Given the description of an element on the screen output the (x, y) to click on. 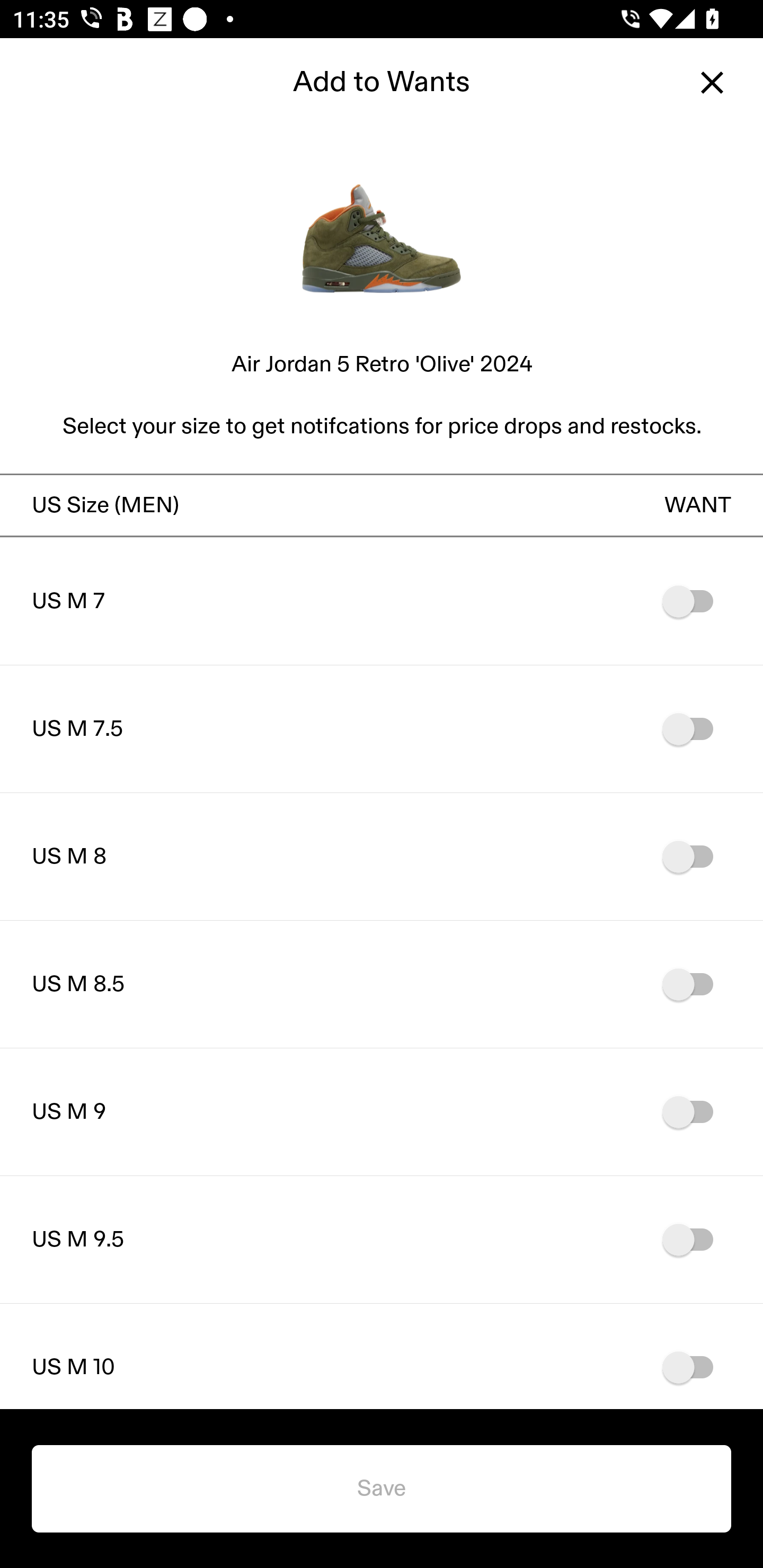
Save (381, 1488)
